Given the description of an element on the screen output the (x, y) to click on. 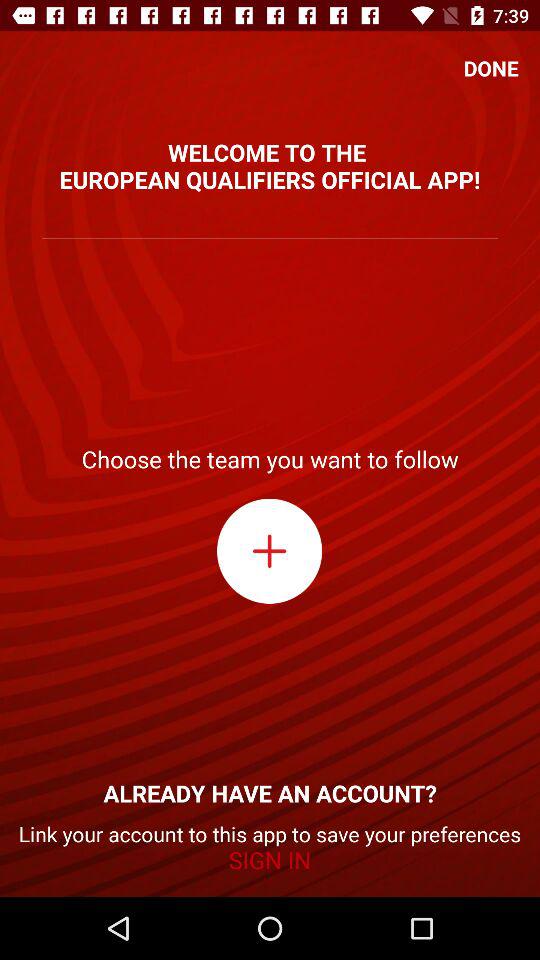
open icon at the top right corner (491, 68)
